Given the description of an element on the screen output the (x, y) to click on. 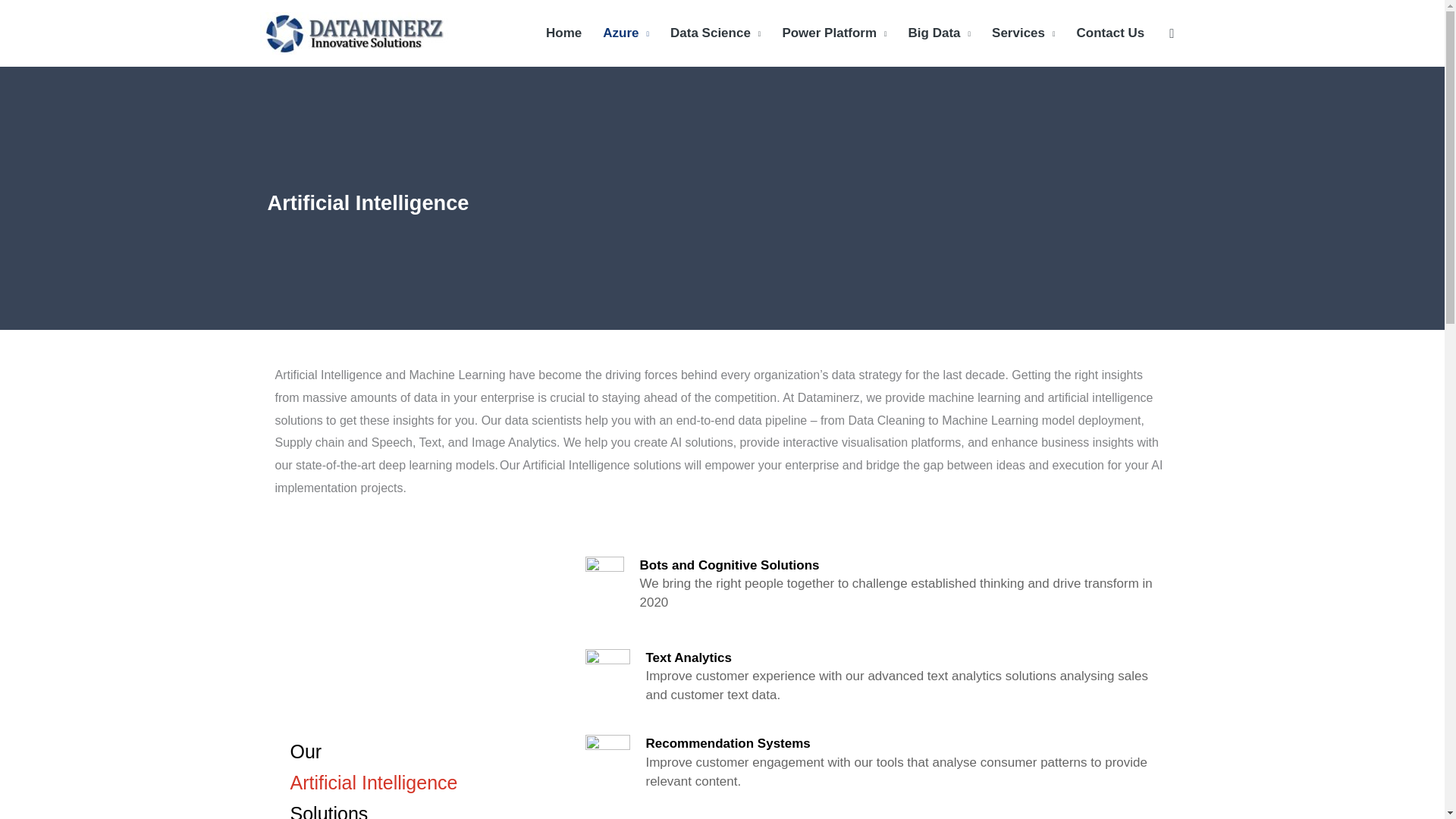
Big Data (939, 32)
Home (563, 32)
Power Platform (833, 32)
Services (1023, 32)
Azure (625, 32)
Data Science (715, 32)
